Given the description of an element on the screen output the (x, y) to click on. 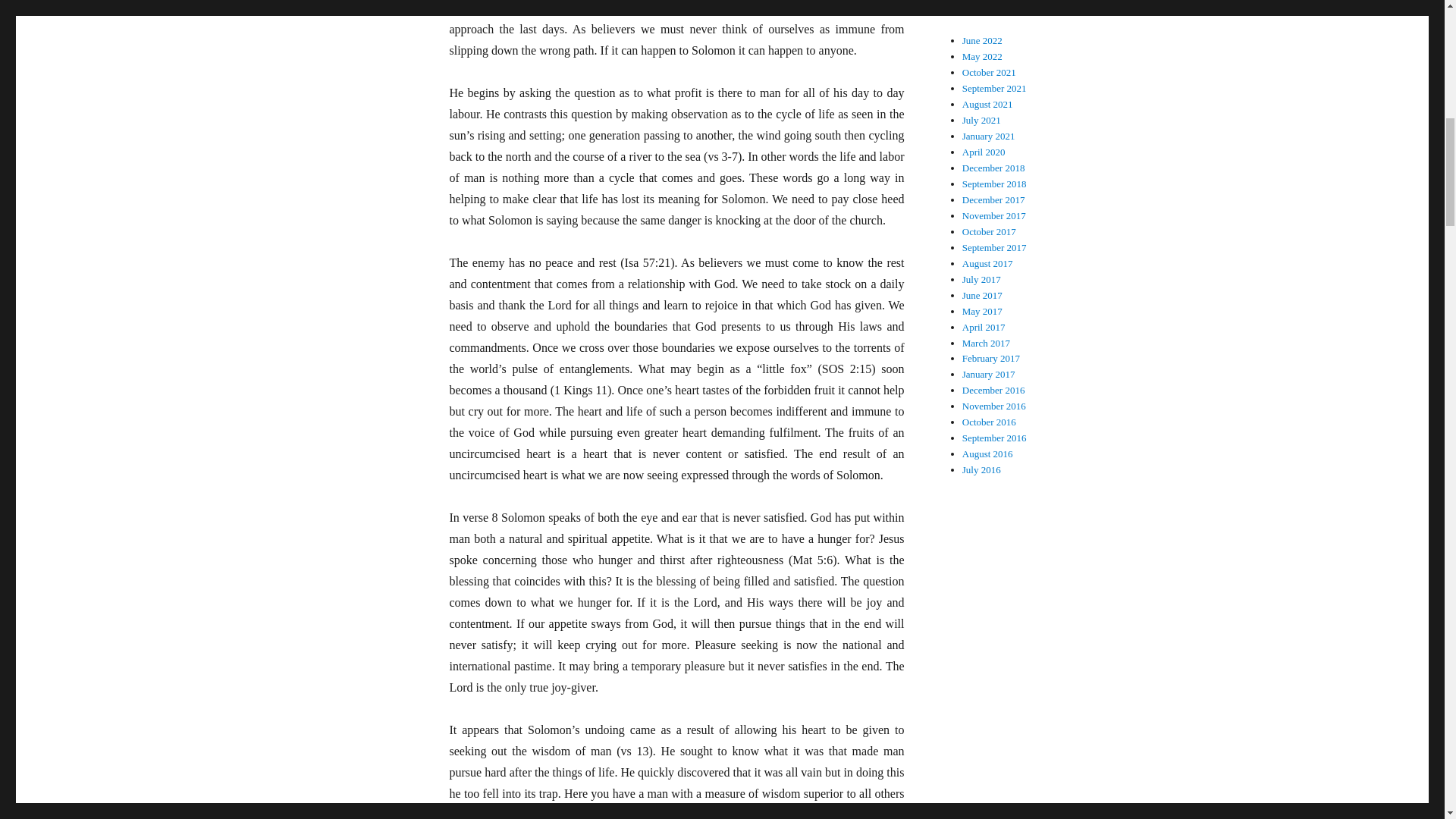
June 2017 (982, 295)
September 2017 (994, 247)
May 2022 (982, 56)
April 2020 (984, 152)
June 2022 (982, 40)
November 2017 (994, 215)
April 2017 (984, 326)
December 2017 (993, 199)
August 2017 (987, 263)
December 2018 (993, 167)
October 2021 (989, 71)
July 2021 (981, 120)
September 2021 (994, 88)
July 2017 (981, 279)
October 2017 (989, 231)
